Given the description of an element on the screen output the (x, y) to click on. 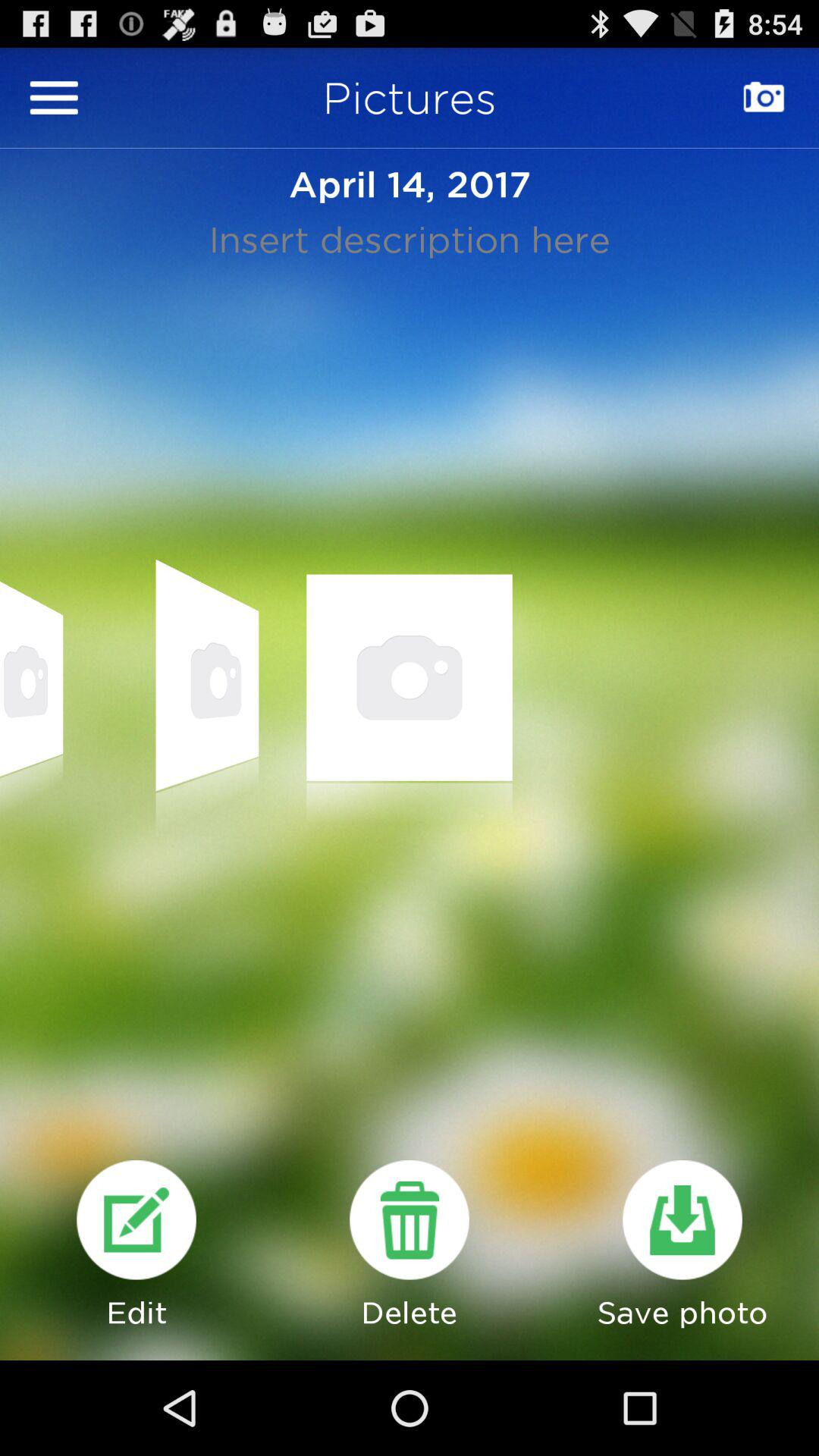
edit (136, 1219)
